Given the description of an element on the screen output the (x, y) to click on. 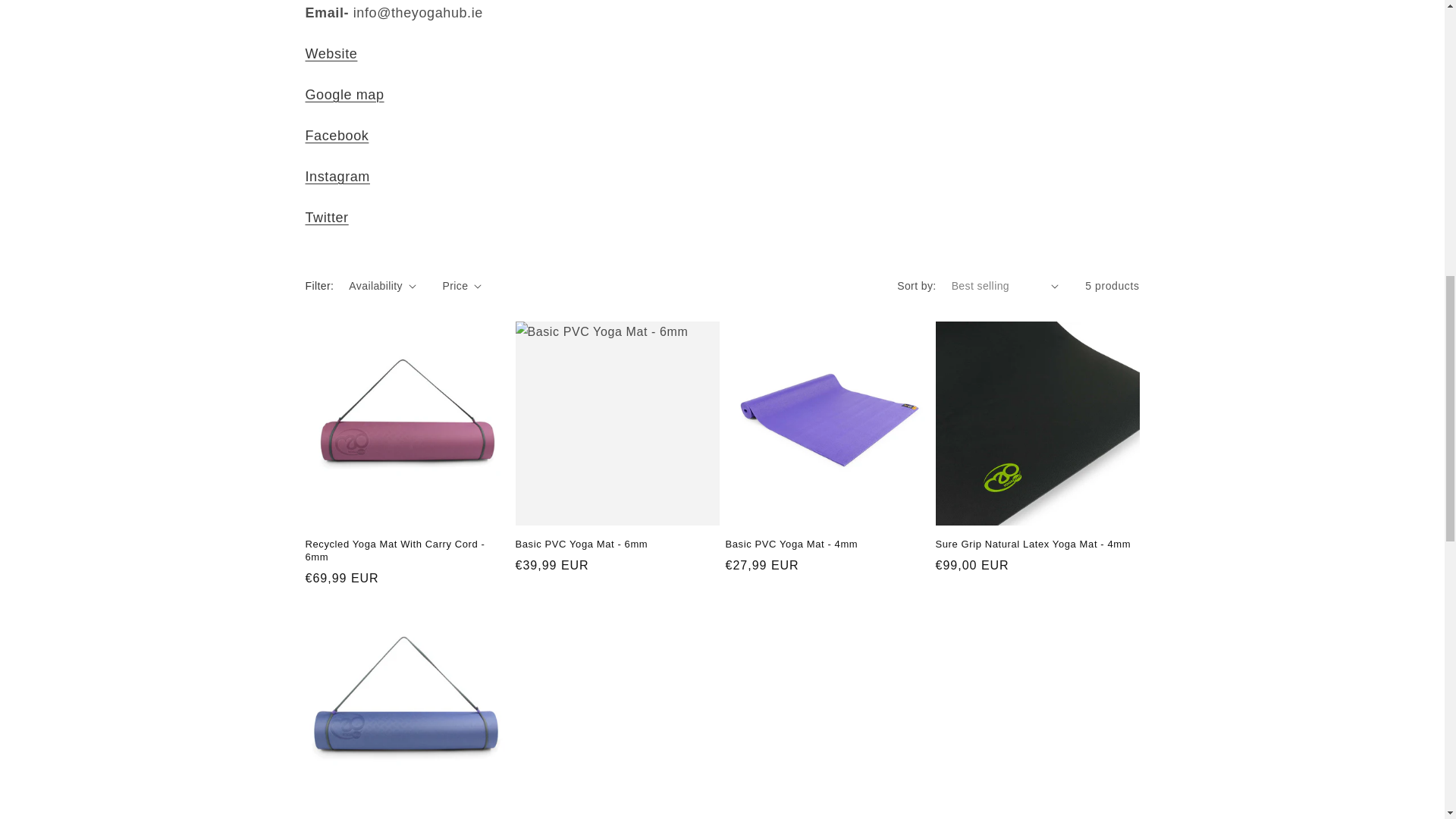
Twitter (325, 217)
Google map (344, 94)
Facebook (336, 135)
Instagram (336, 176)
Website (330, 53)
